Given the description of an element on the screen output the (x, y) to click on. 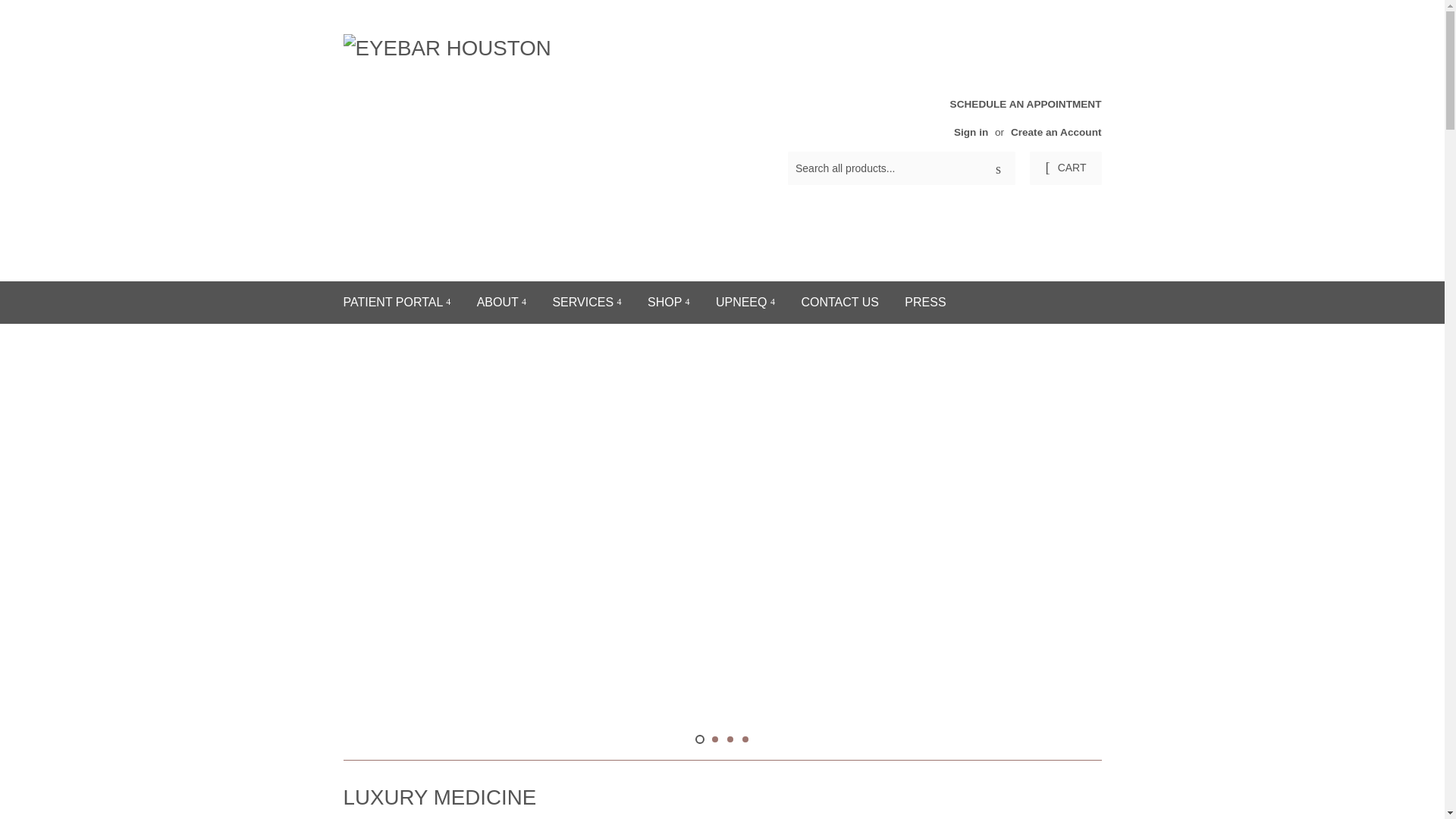
Create an Account (1056, 132)
SCHEDULE AN APPOINTMENT (1022, 117)
CART (1064, 168)
Sign in (970, 132)
Search (997, 169)
